Given the description of an element on the screen output the (x, y) to click on. 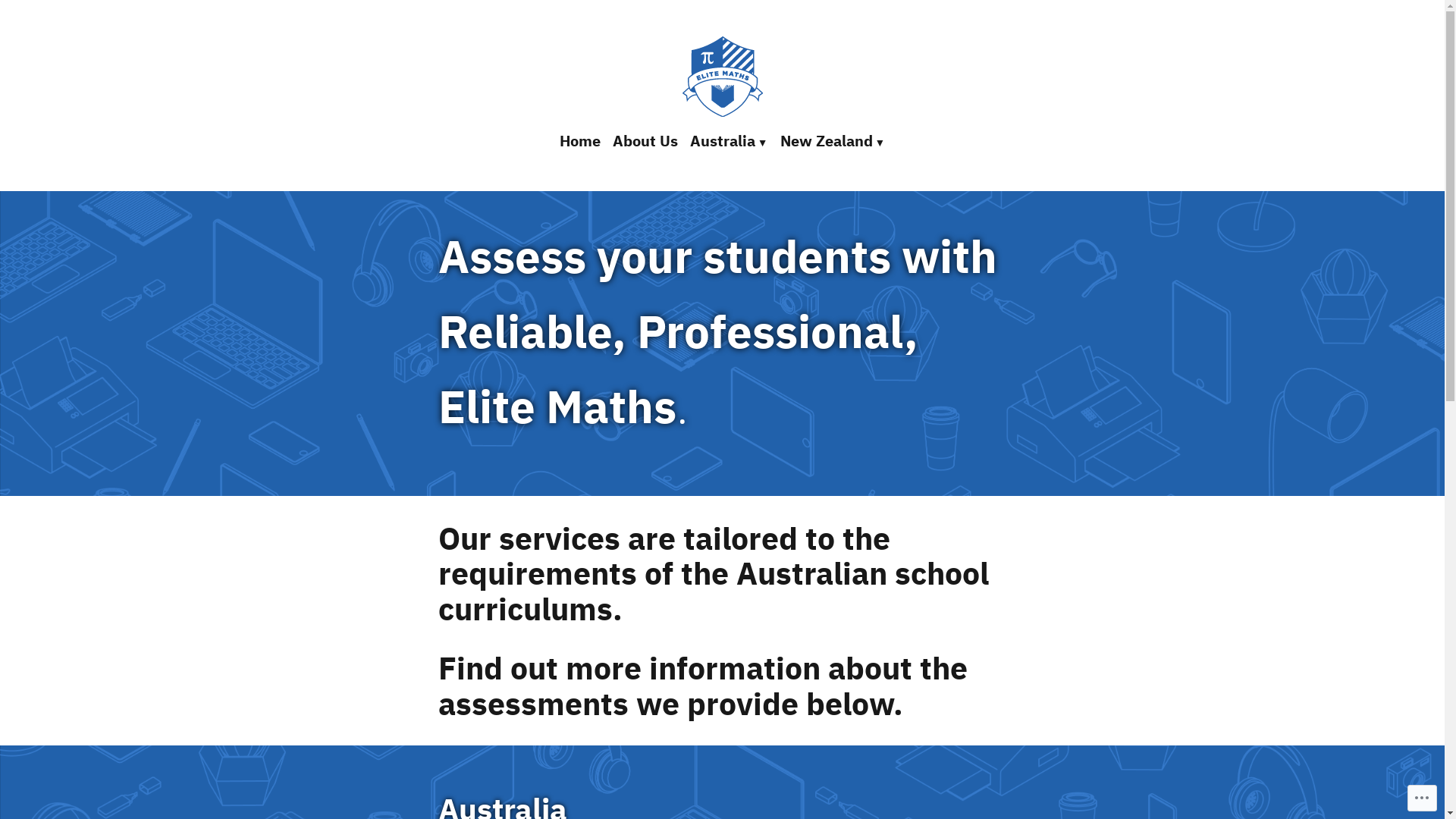
About Us Element type: text (645, 141)
New Zealand Element type: text (828, 141)
Home Element type: text (582, 141)
Australia Element type: text (729, 141)
